Given the description of an element on the screen output the (x, y) to click on. 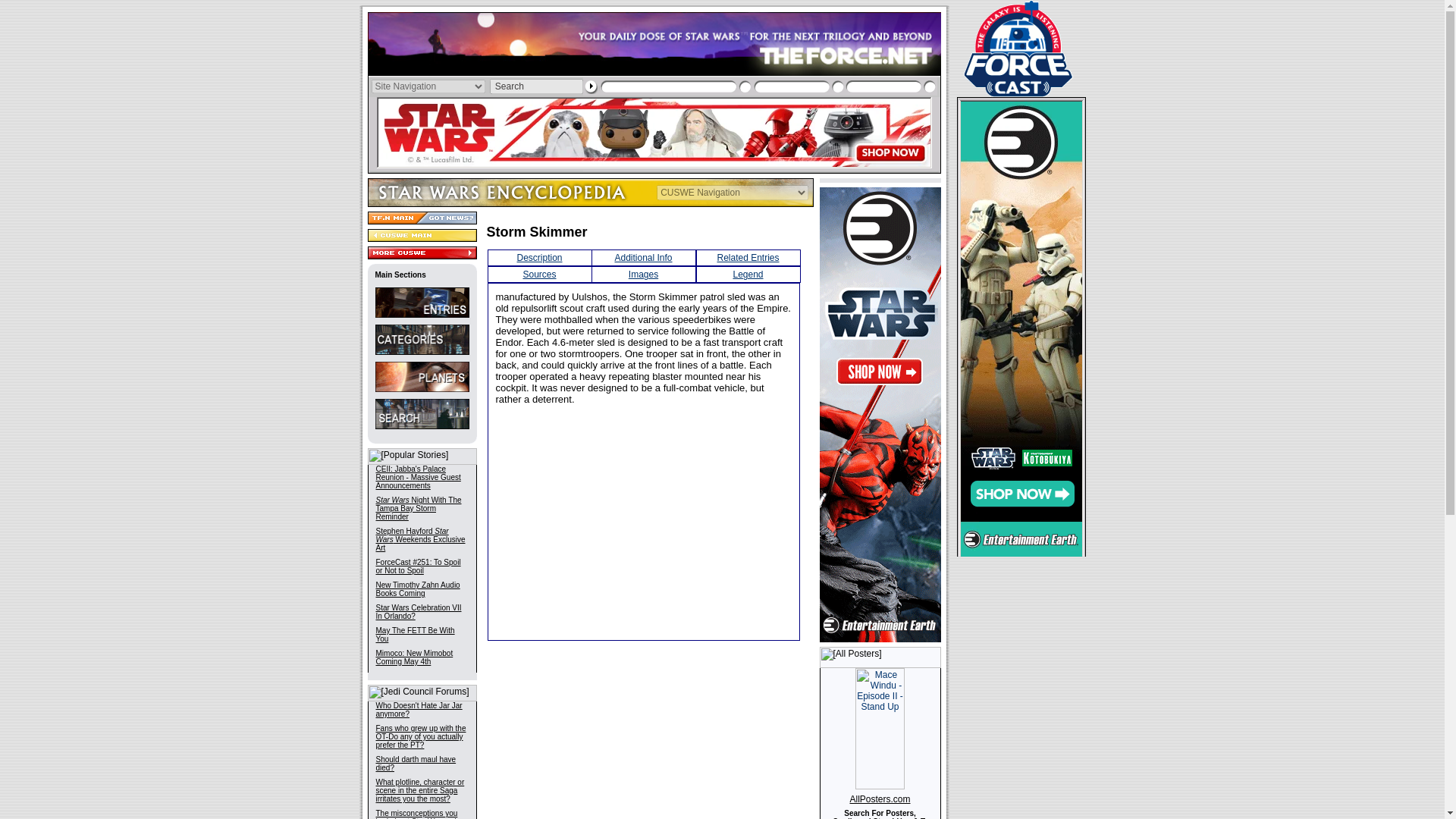
CEII: Jabba's Palace Reunion - Massive Guest Announcements (418, 477)
Related Entries (747, 257)
AllPosters.com (879, 798)
Mimoco: New Mimobot Coming May 4th (413, 657)
Star Wars Celebration VII In Orlando? (418, 611)
Additional Info (642, 257)
Star Wars Night With The Tampa Bay Storm Reminder (418, 508)
Description (539, 257)
